Given the description of an element on the screen output the (x, y) to click on. 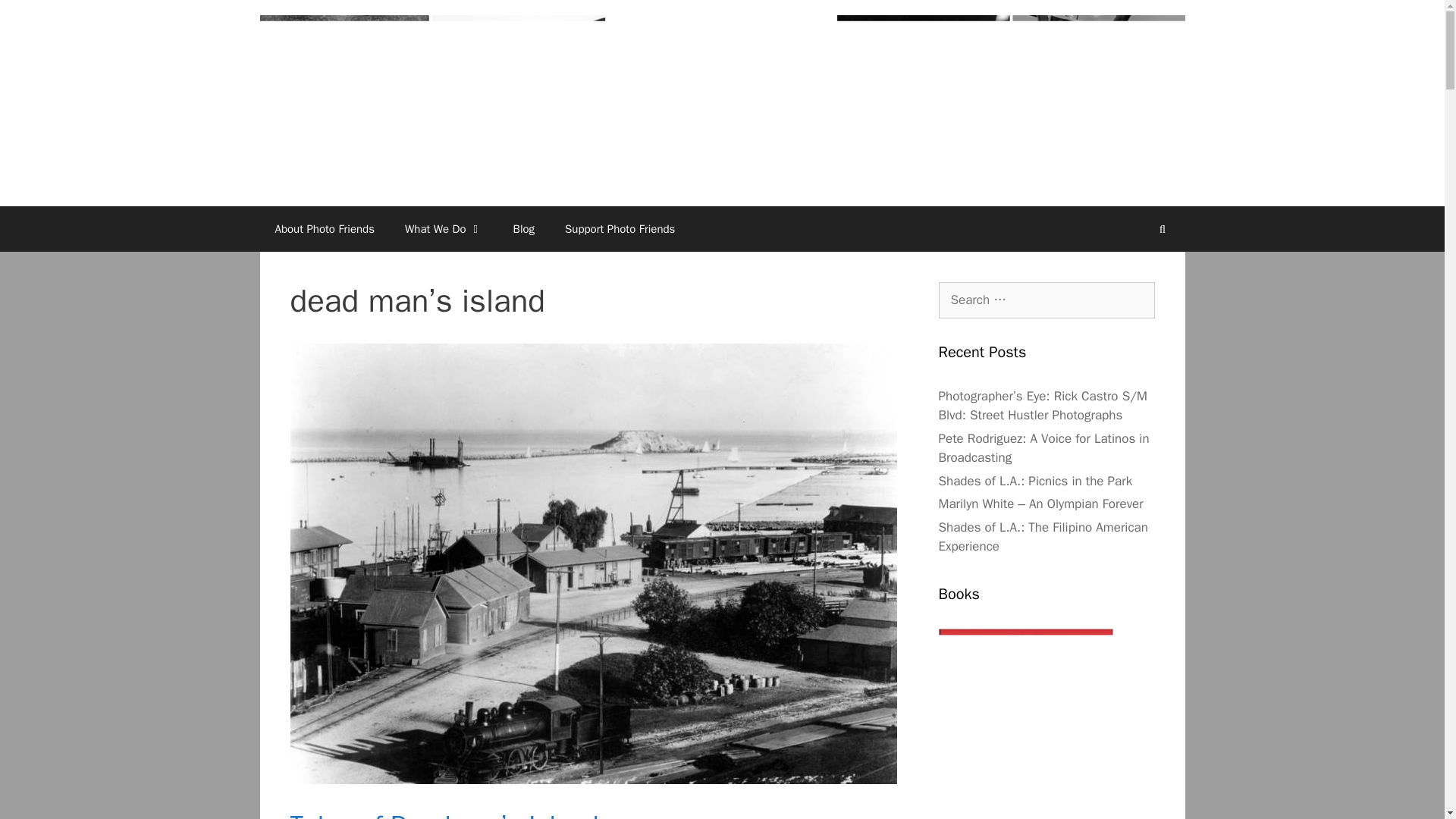
Search for: (1046, 299)
What We Do (443, 228)
Support Photo Friends (620, 228)
Search (35, 18)
Blog (523, 228)
About Photo Friends (324, 228)
